Given the description of an element on the screen output the (x, y) to click on. 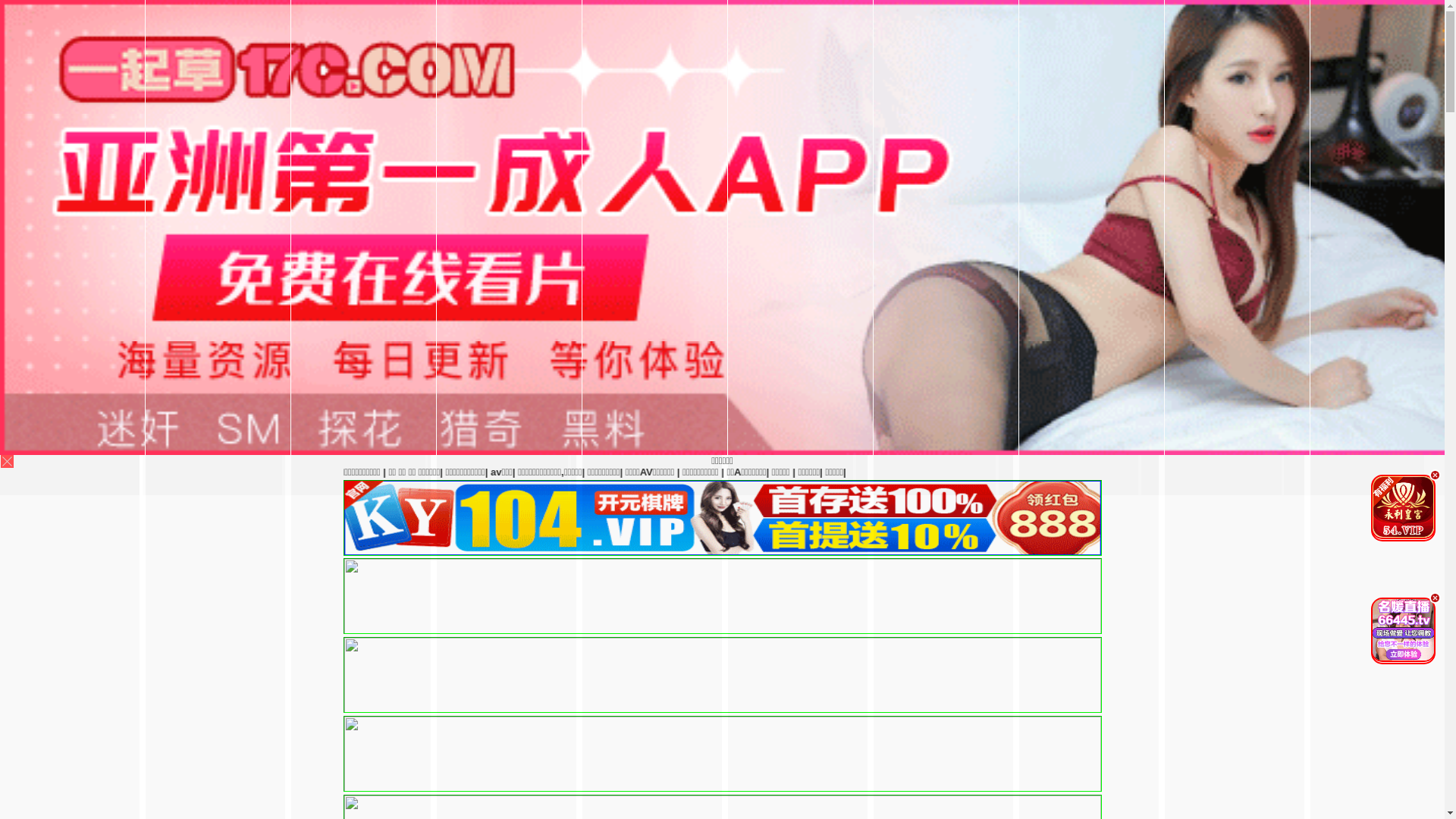
| Element type: text (925, 471)
| Element type: text (878, 471)
| Element type: text (691, 471)
| Element type: text (604, 471)
| Element type: text (770, 471)
| Element type: text (1106, 471)
| Element type: text (1340, 471)
| Element type: text (1254, 471)
| Element type: text (832, 471)
| Element type: text (1297, 471)
| Element type: text (1142, 471)
6686 Element type: hover (721, 749)
| Element type: text (1014, 471)
| Element type: text (730, 471)
| Element type: text (1197, 471)
| Element type: text (578, 471)
| Element type: text (1071, 471)
| Element type: text (1437, 471)
| Element type: text (1375, 471)
6686 Element type: hover (721, 670)
| Element type: text (967, 471)
| Element type: text (644, 471)
| Element type: text (1408, 471)
6686 Element type: hover (721, 552)
